Given the description of an element on the screen output the (x, y) to click on. 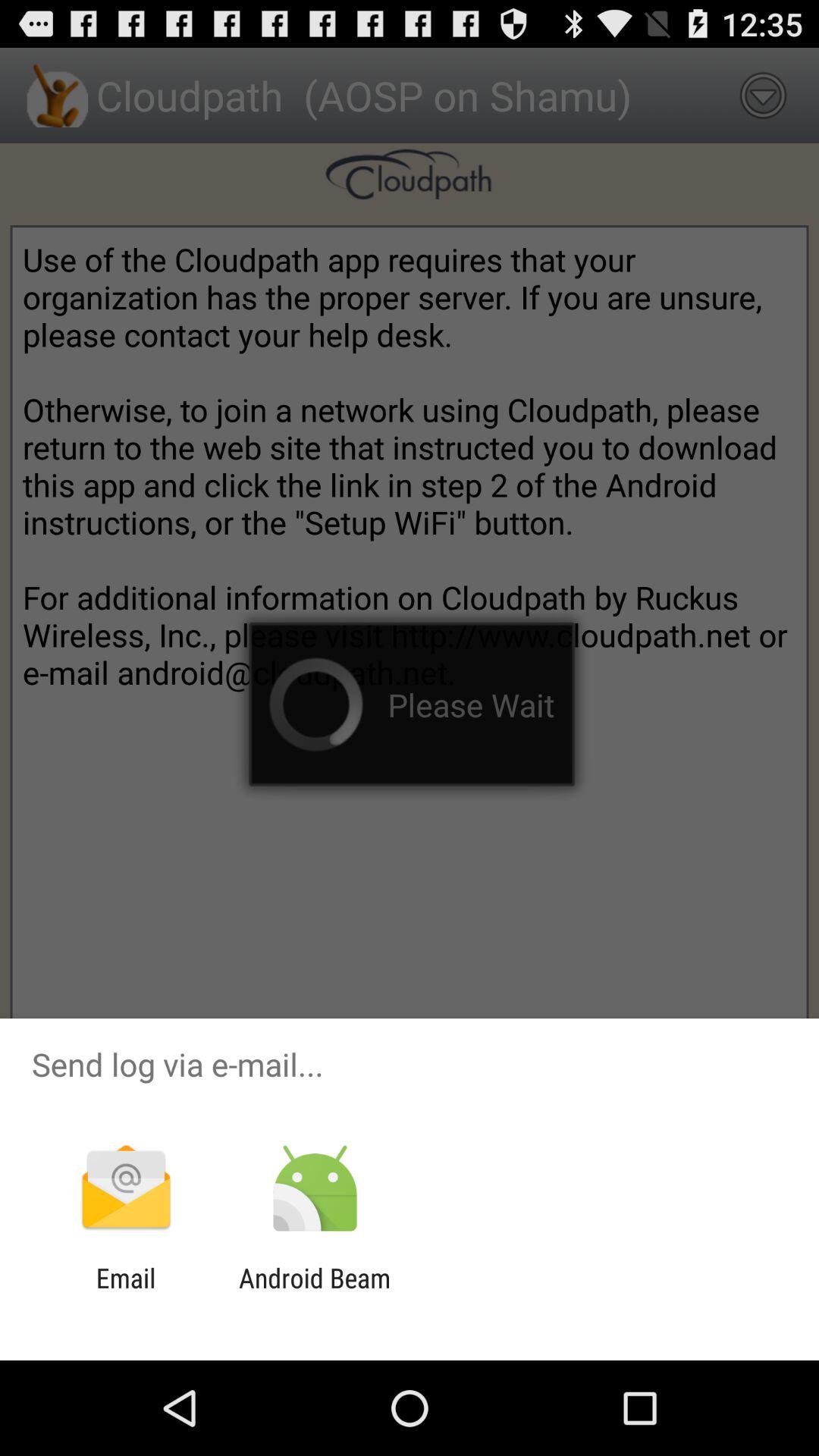
select the app to the left of android beam icon (125, 1293)
